Given the description of an element on the screen output the (x, y) to click on. 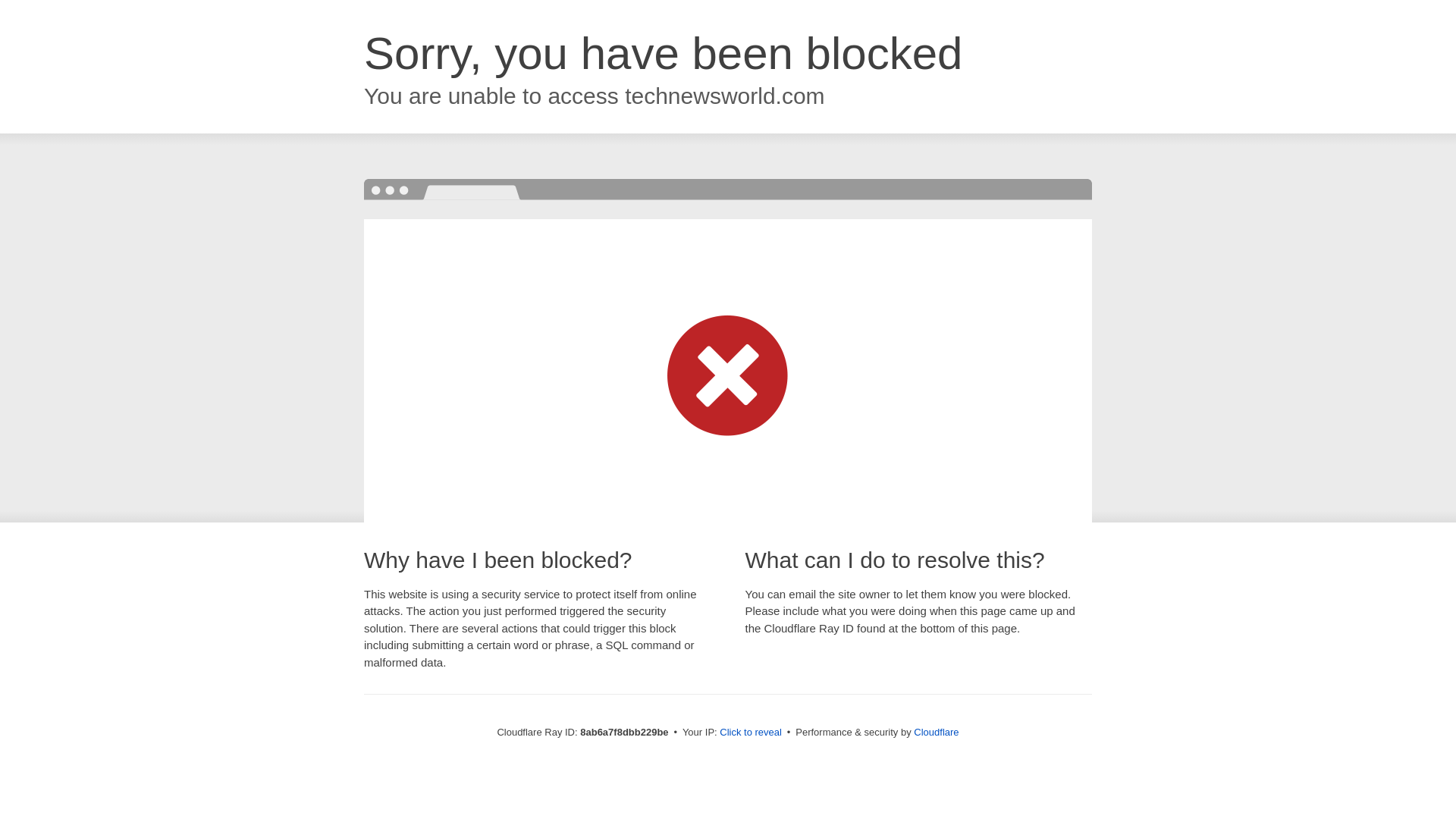
Cloudflare (936, 731)
Click to reveal (750, 732)
